Given the description of an element on the screen output the (x, y) to click on. 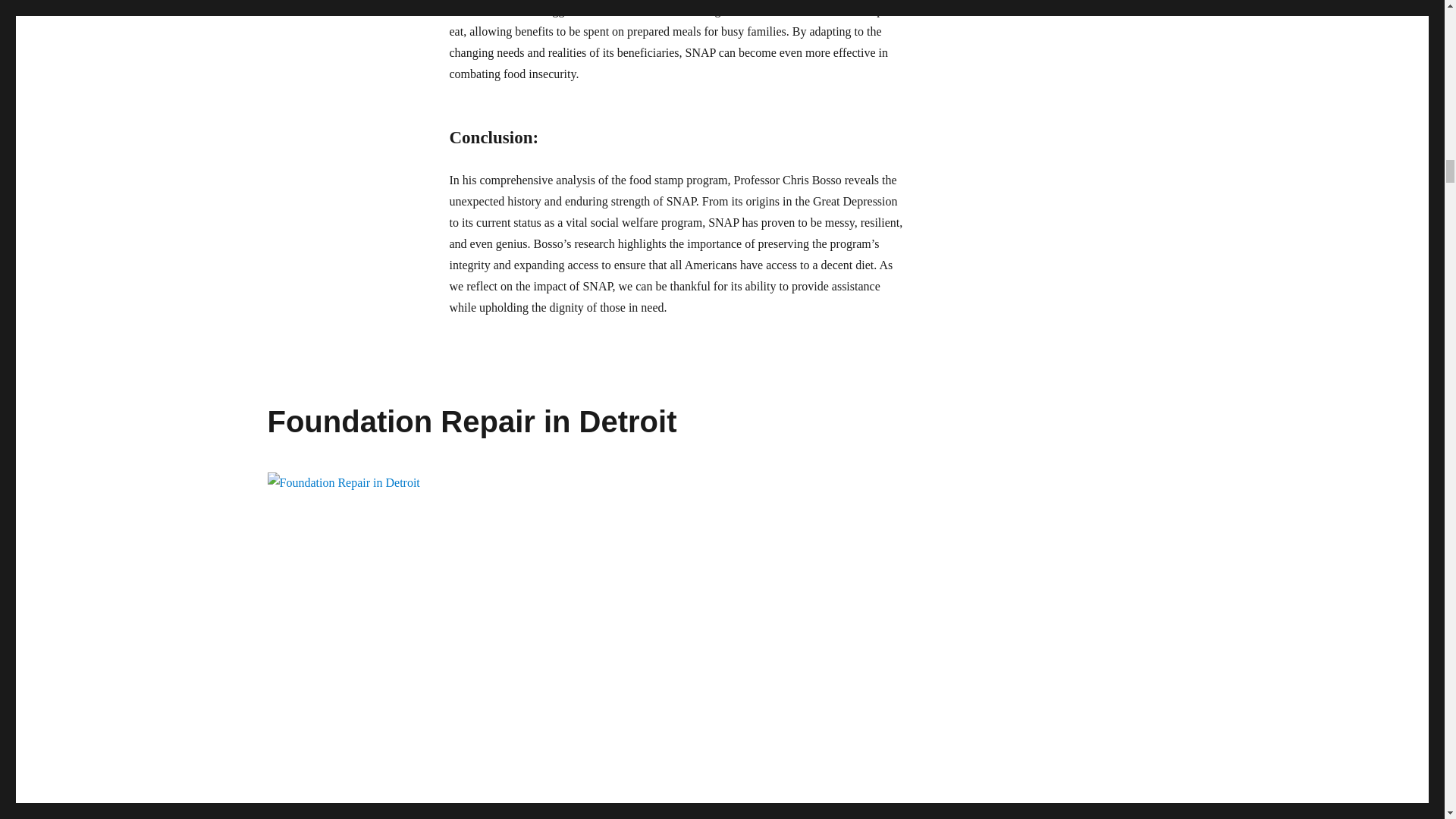
Foundation Repair in Detroit (471, 421)
